Given the description of an element on the screen output the (x, y) to click on. 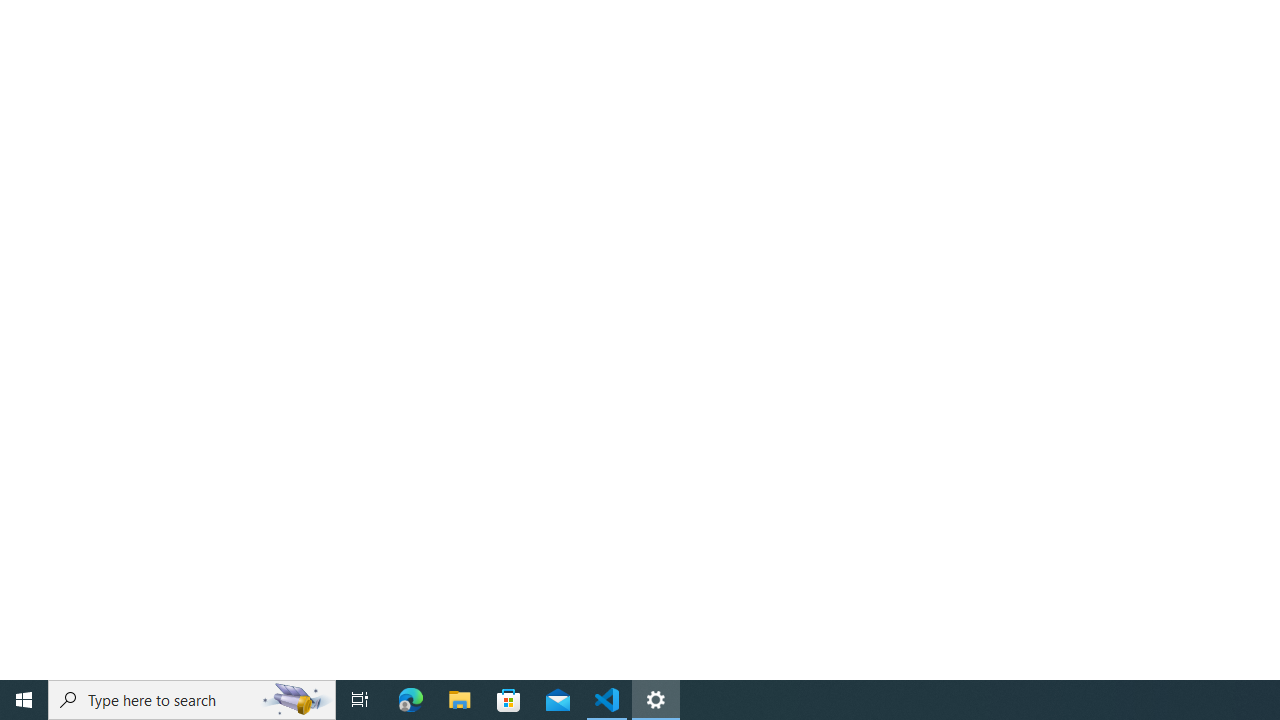
Settings - 1 running window (656, 699)
